Given the description of an element on the screen output the (x, y) to click on. 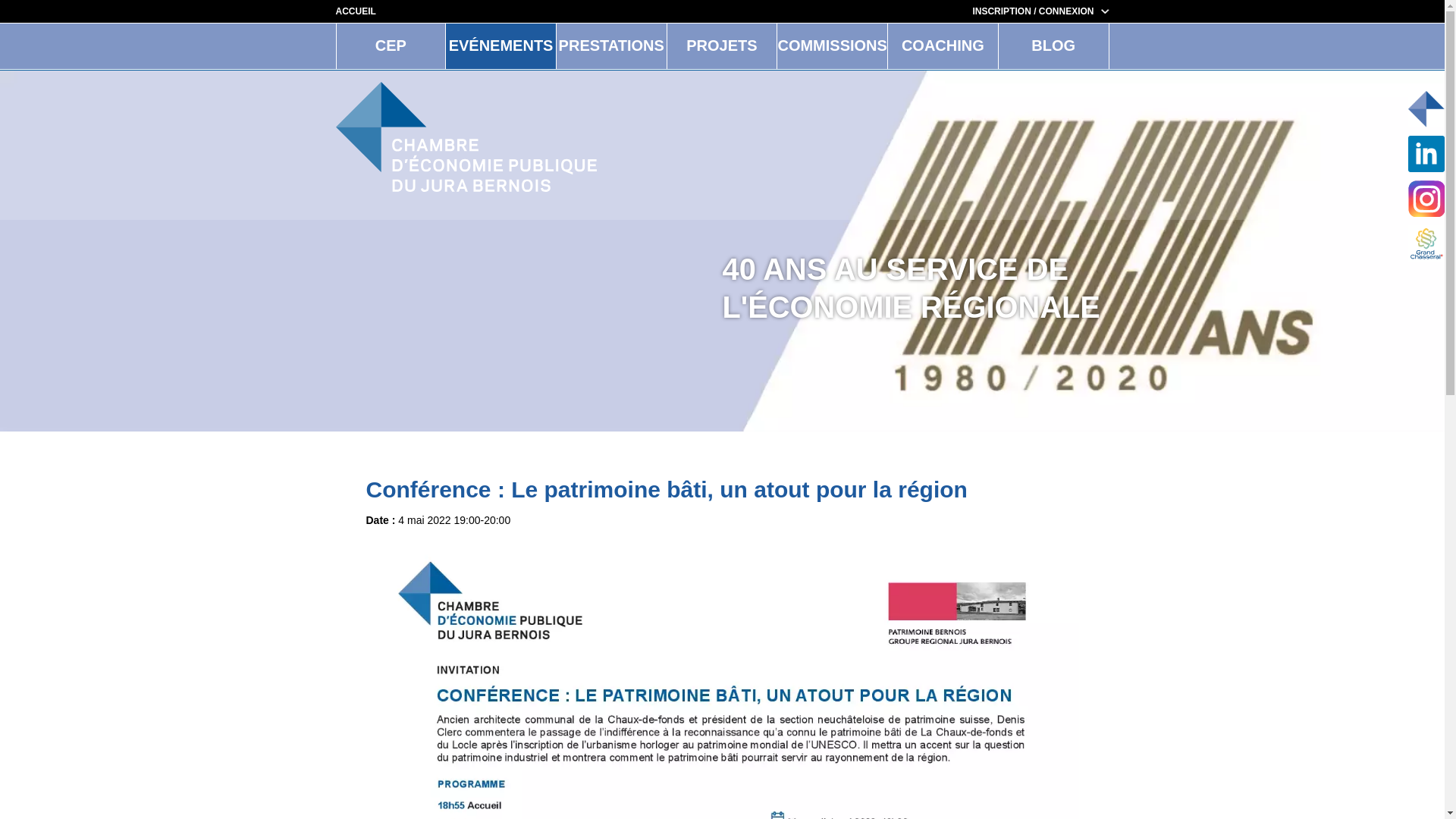
Instagram Element type: text (1426, 198)
Devenir membre Element type: text (1426, 109)
CONNEXION Element type: text (1073, 11)
ACCUEIL Element type: text (355, 11)
Prev Element type: text (216, 253)
PROJETS Element type: text (722, 46)
INSCRIPTION Element type: text (1001, 11)
CEP Element type: text (390, 46)
Grand Chasseral Element type: text (1426, 243)
BLOG Element type: text (1053, 46)
Next Element type: text (1227, 253)
LinkedIn Element type: text (1426, 153)
COMMISSIONS Element type: text (832, 46)
COACHING Element type: text (942, 46)
PRESTATIONS Element type: text (611, 46)
